Given the description of an element on the screen output the (x, y) to click on. 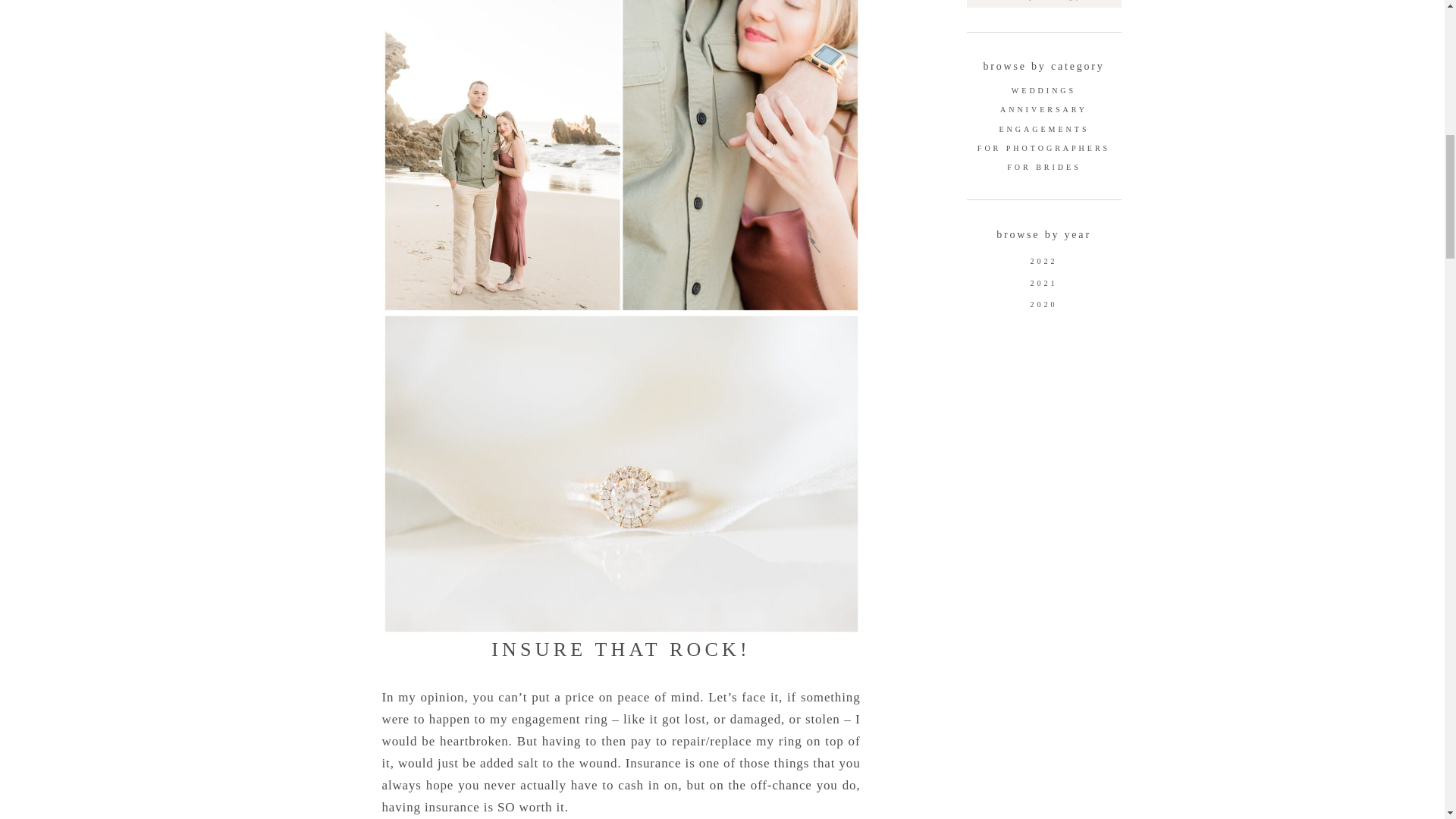
ANNIVERSARY (1043, 110)
2020 (1043, 305)
FOR PHOTOGRAPHERS (1044, 149)
FOR BRIDES (1043, 168)
WEDDINGS (1043, 92)
2021 (1043, 284)
2022 (1043, 260)
ENGAGEMENTS (1044, 130)
